Given the description of an element on the screen output the (x, y) to click on. 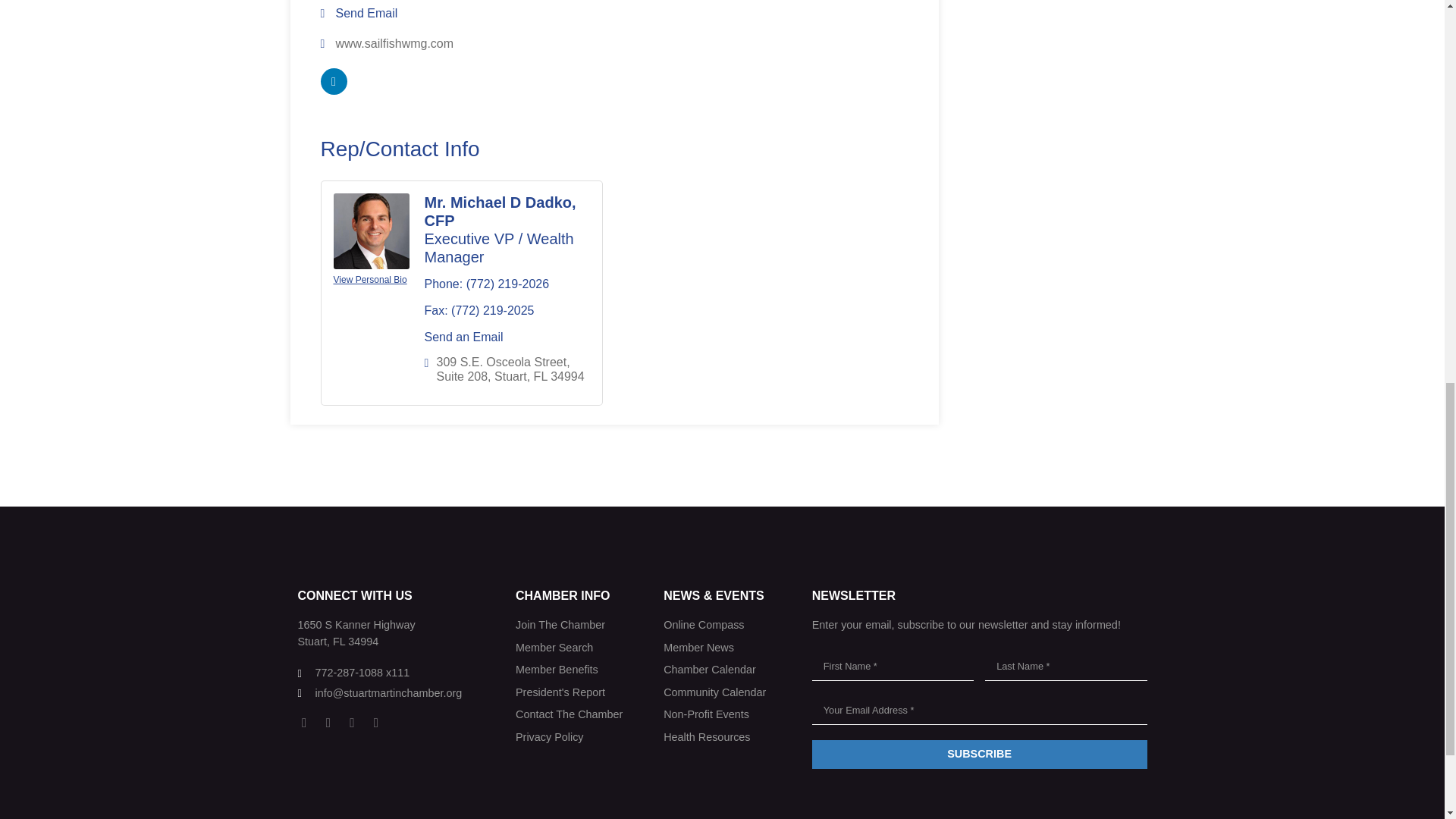
View on LinkedIn (333, 90)
